Given the description of an element on the screen output the (x, y) to click on. 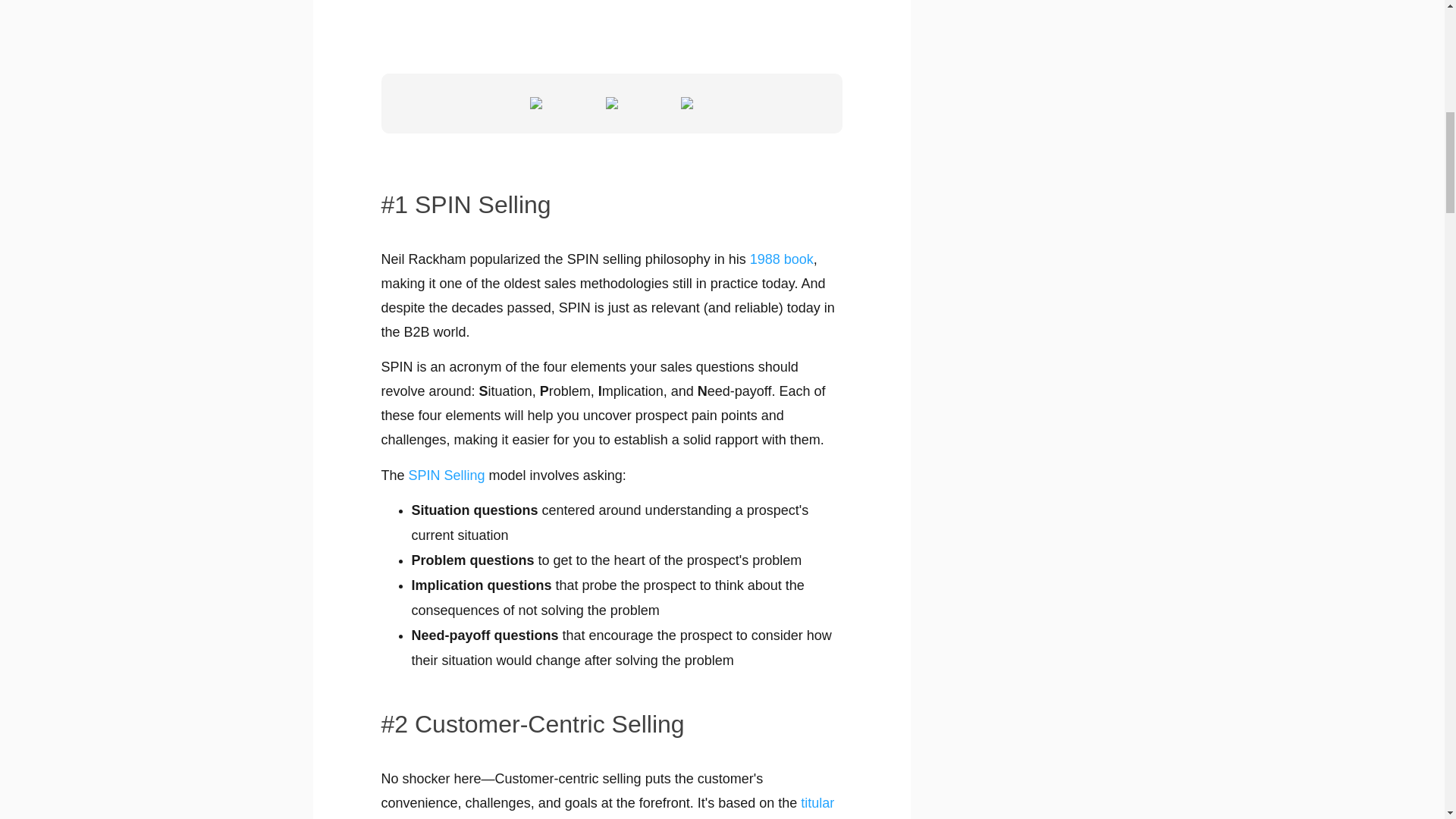
titular book (607, 807)
SPIN Selling (446, 475)
1988 book (781, 258)
Neil Rackham popularized the SPIN selling philosophy in his  (564, 258)
